Given the description of an element on the screen output the (x, y) to click on. 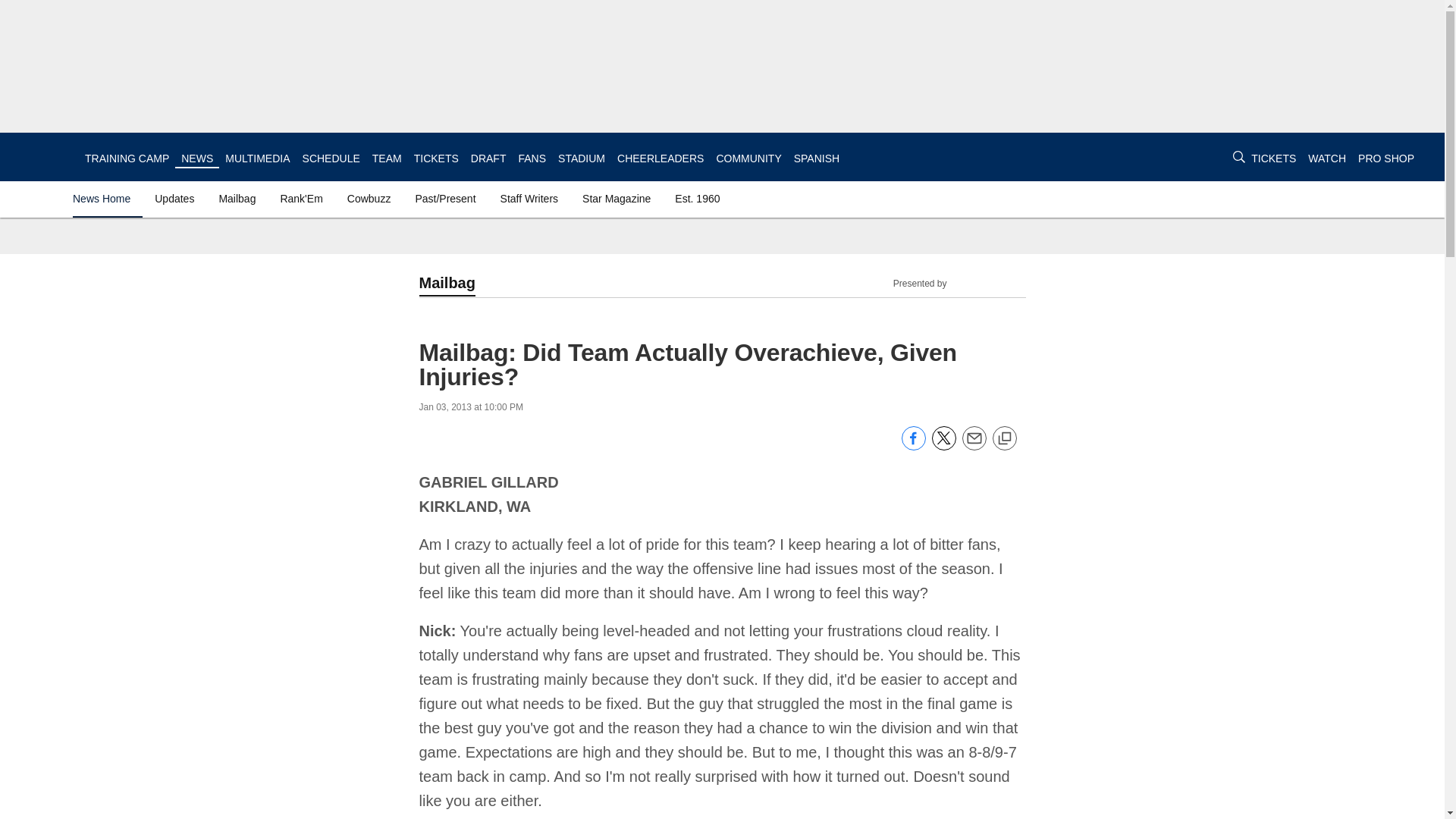
TICKETS (1272, 158)
Link to club's homepage (42, 156)
TRAINING CAMP (126, 158)
CHEERLEADERS (660, 158)
DRAFT (488, 158)
DRAFT (488, 158)
SPANISH (816, 158)
TICKETS (1272, 158)
PRO SHOP (1385, 158)
STADIUM (581, 158)
